Given the description of an element on the screen output the (x, y) to click on. 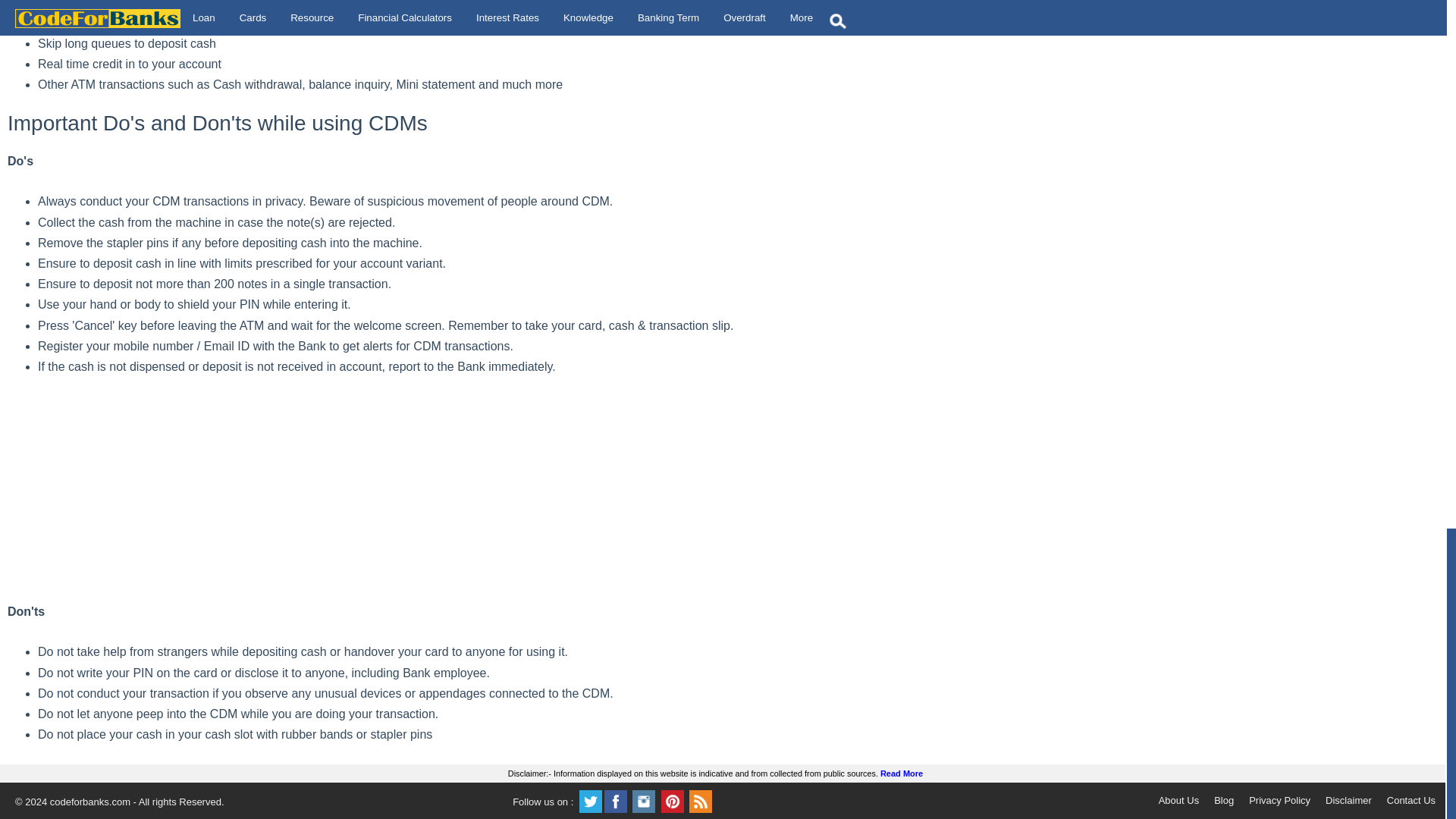
codeforbanks.com (90, 801)
